Given the description of an element on the screen output the (x, y) to click on. 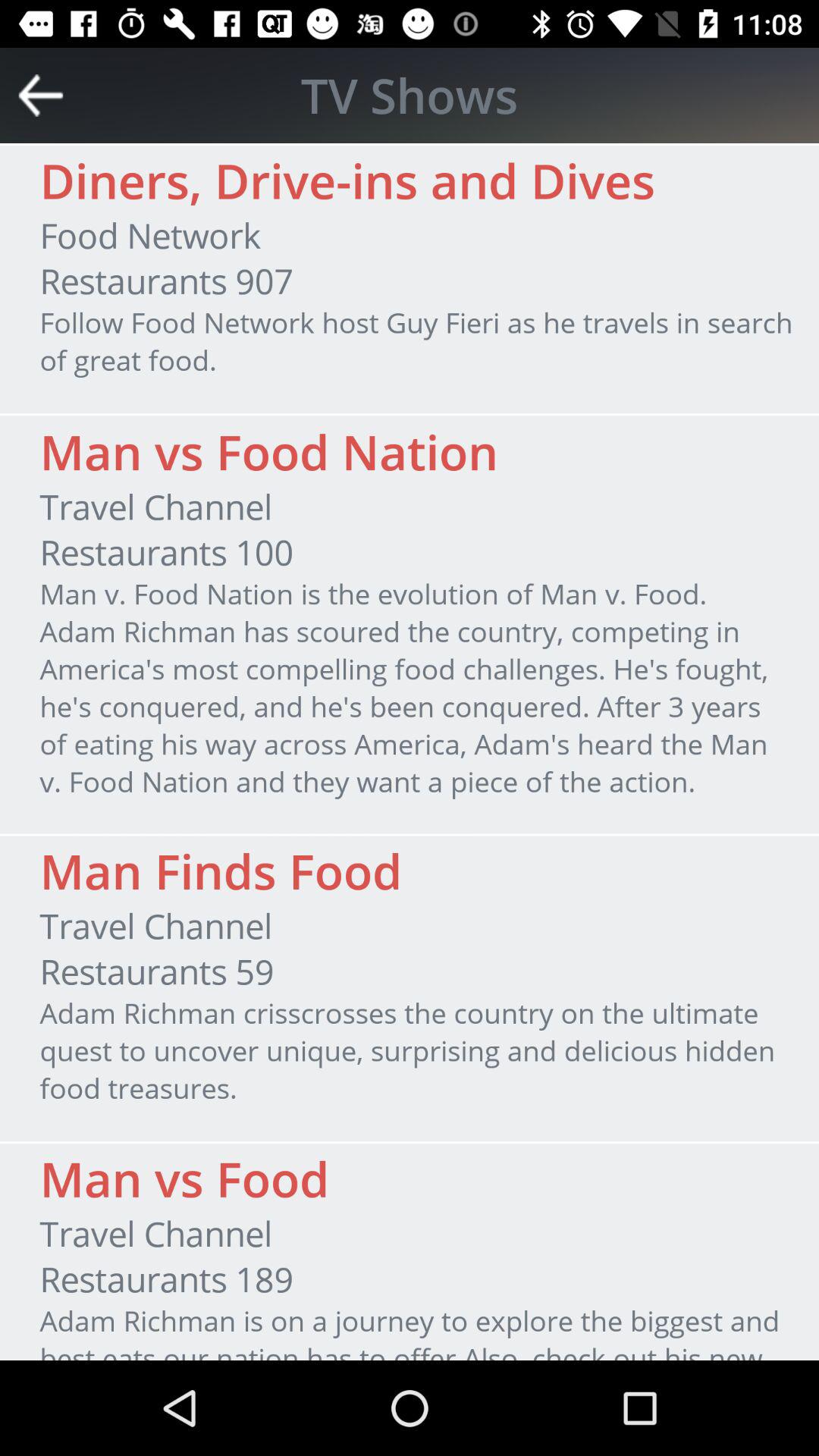
scroll to the restaurants 59 (156, 971)
